Given the description of an element on the screen output the (x, y) to click on. 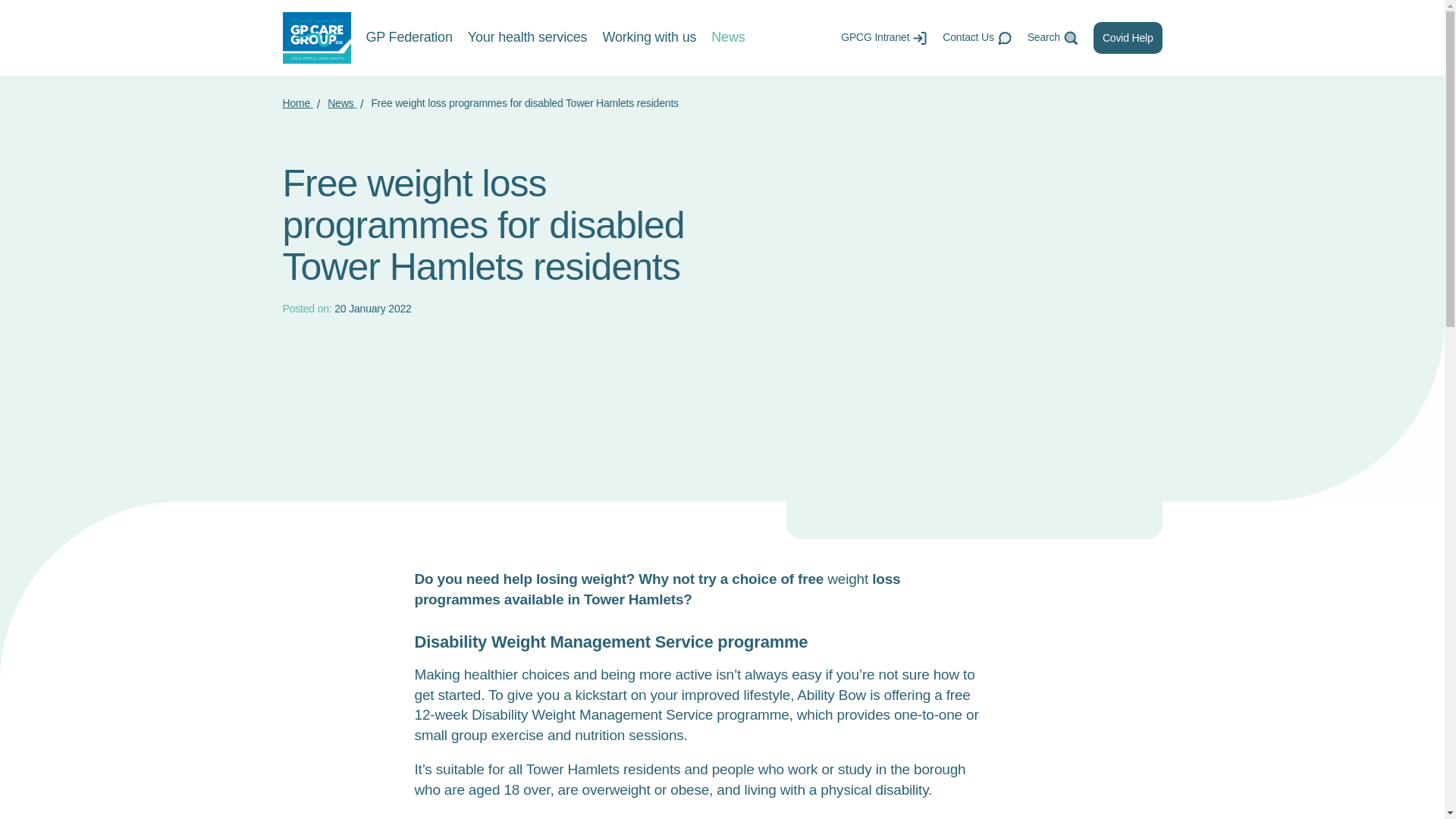
Contact Us (976, 37)
Home (297, 102)
News (341, 102)
News (727, 37)
Your health services (527, 37)
GP Care Group (316, 37)
GP Federation (408, 37)
GP Federation (408, 37)
GP Care Group Logo (316, 37)
Your health services (527, 37)
Search (1052, 37)
News (341, 102)
Covid Help (1127, 38)
Home (297, 102)
Working with us (648, 37)
